Given the description of an element on the screen output the (x, y) to click on. 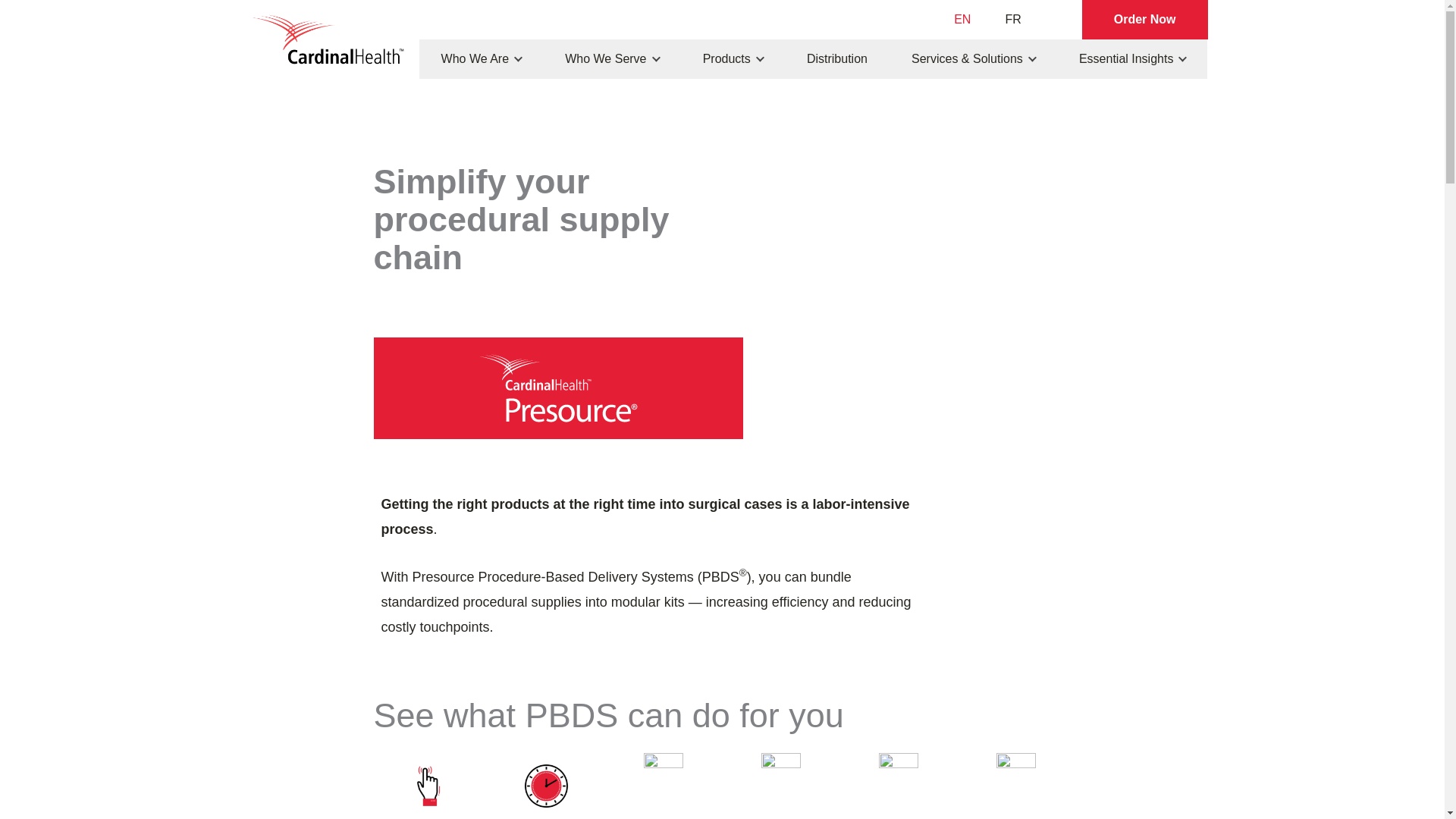
Order Now (1144, 19)
EN (958, 20)
Products (732, 58)
Who We Serve (611, 58)
FR (1008, 20)
Who We Are (481, 58)
